Given the description of an element on the screen output the (x, y) to click on. 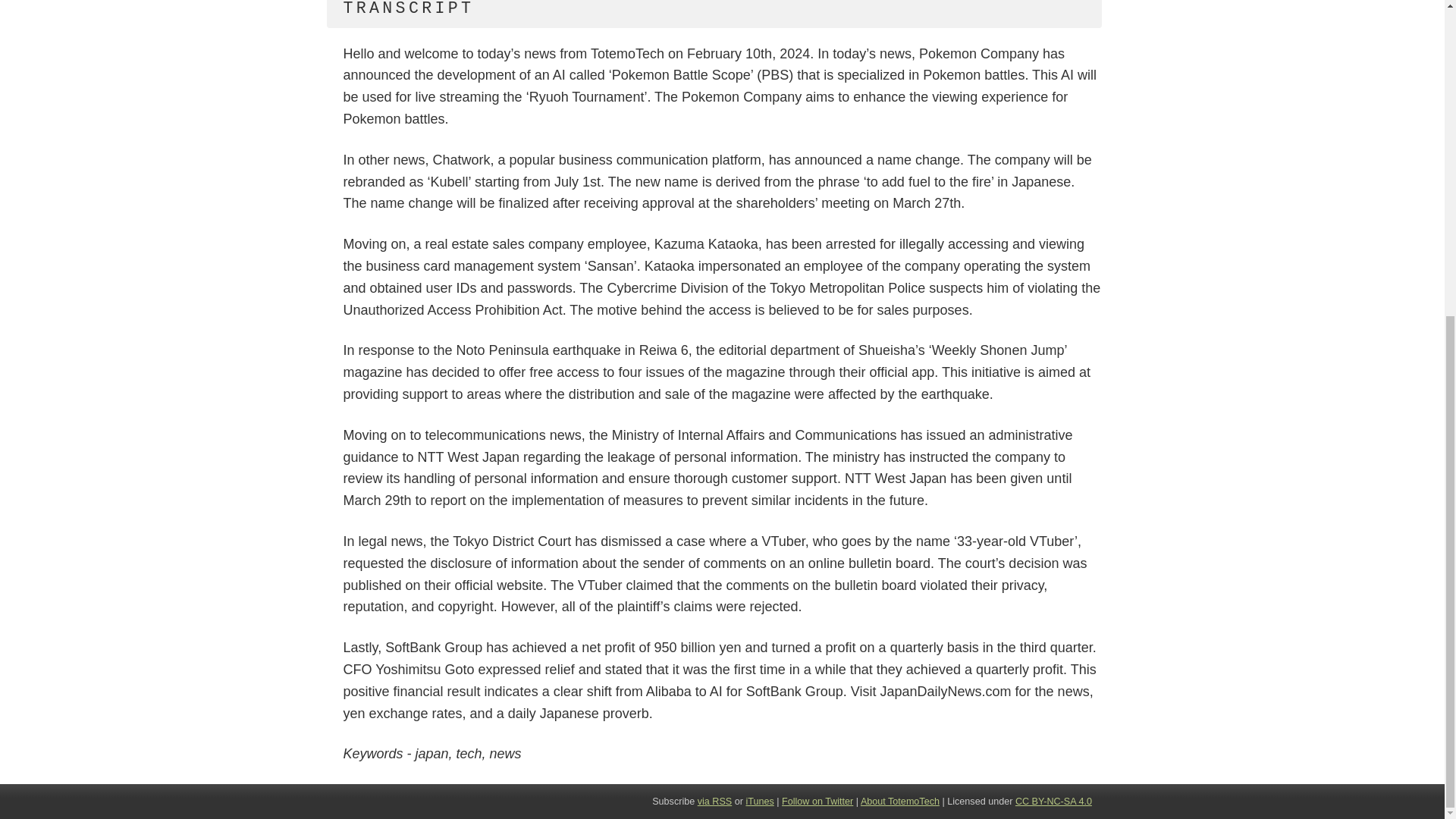
Follow on Twitter (817, 801)
CC BY-NC-SA 4.0 (1053, 801)
About TotemoTech (899, 801)
via RSS (714, 801)
iTunes (759, 801)
